Given the description of an element on the screen output the (x, y) to click on. 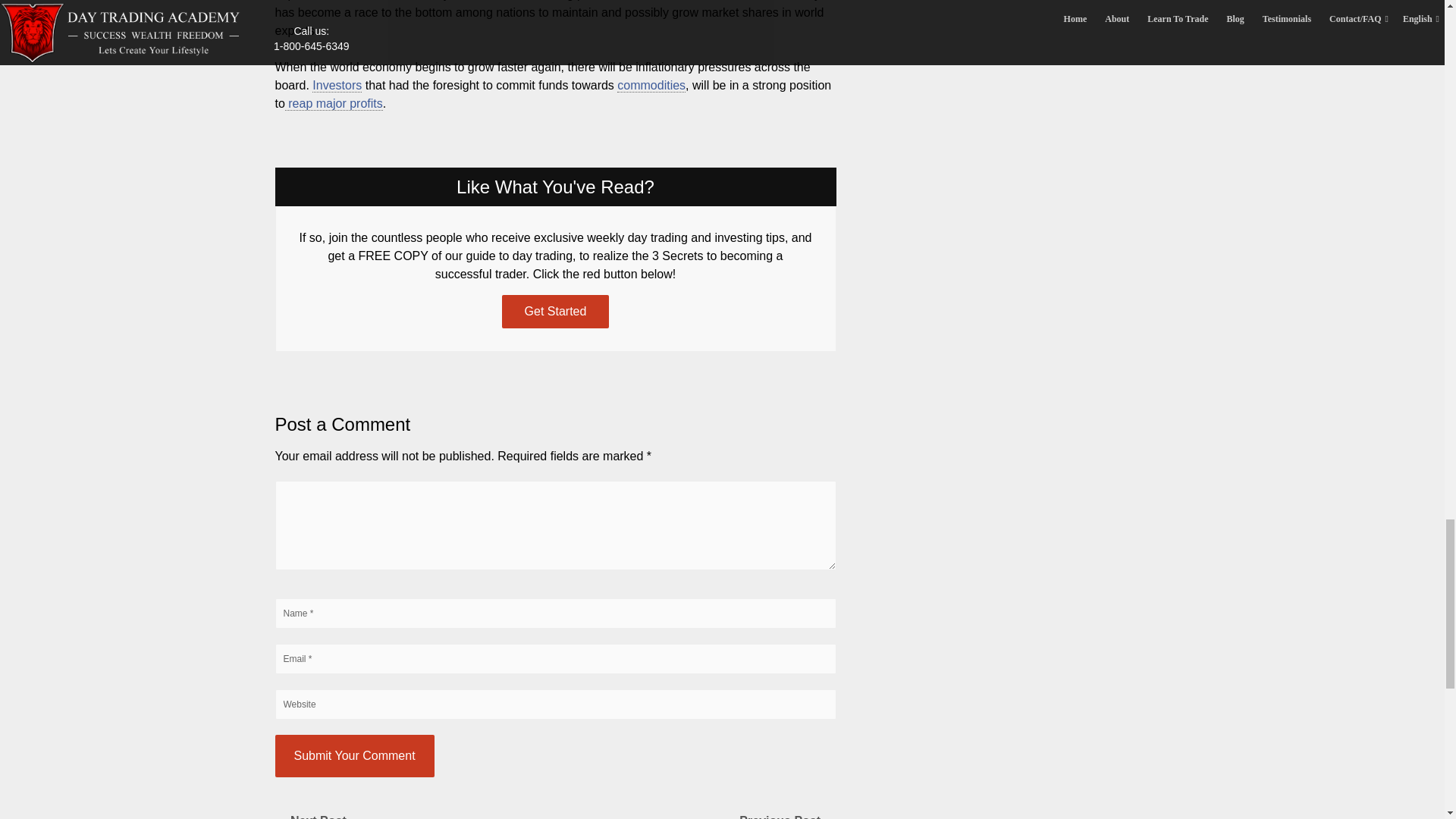
Submit Your Comment (354, 755)
